Given the description of an element on the screen output the (x, y) to click on. 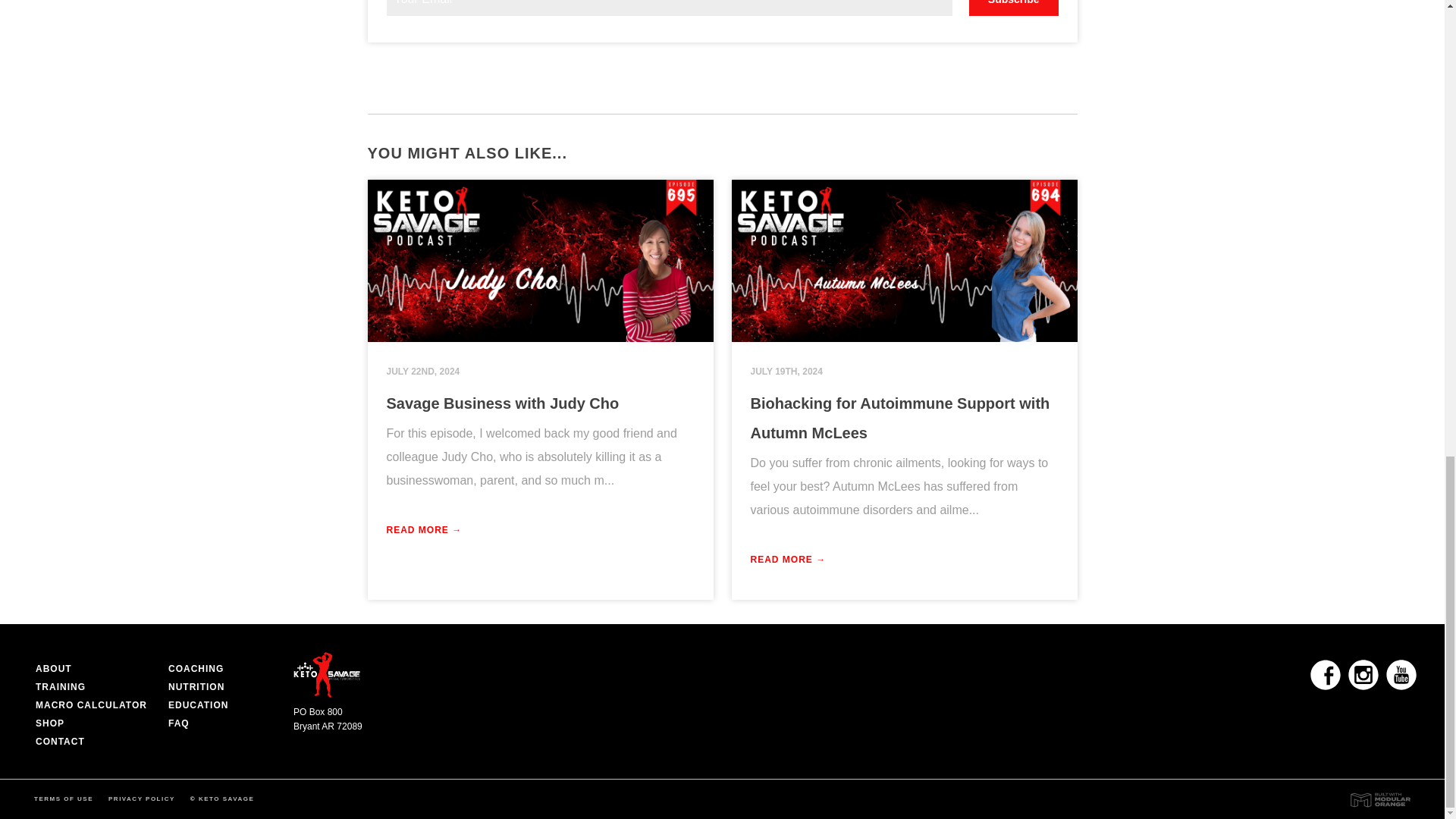
Instagram (1363, 675)
Facebook (1325, 675)
CONTACT (59, 741)
SHOP (49, 723)
Subscribe (1013, 7)
MACRO CALCULATOR (90, 705)
Subscribe (1013, 7)
FAQ (178, 723)
PRIVACY POLICY (140, 798)
Savage Business with Judy Cho (503, 402)
ABOUT (52, 668)
TRAINING (59, 686)
Terms Of Use (63, 798)
COACHING (196, 668)
Biohacking for Autoimmune Support with Autumn McLees (900, 417)
